Given the description of an element on the screen output the (x, y) to click on. 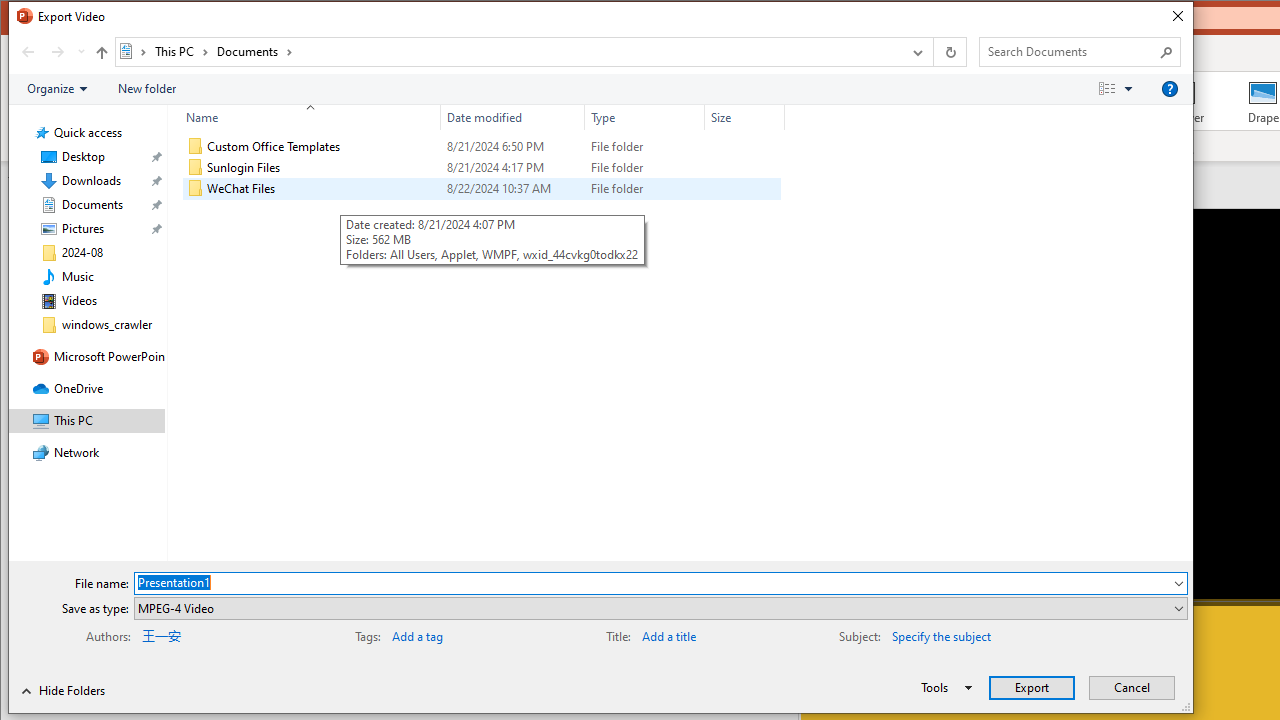
Class: ToolbarWindow32 (72, 690)
File name: (651, 583)
Sunlogin Files (481, 167)
Export (1032, 688)
Filter dropdown (776, 117)
Tools (943, 687)
&Help (1169, 89)
Date modified (512, 188)
Type (644, 117)
Title (705, 634)
Type (644, 188)
Command Module (600, 89)
Forward (Alt + Right Arrow) (57, 51)
Refresh "Documents" (F5) (949, 51)
